Given the description of an element on the screen output the (x, y) to click on. 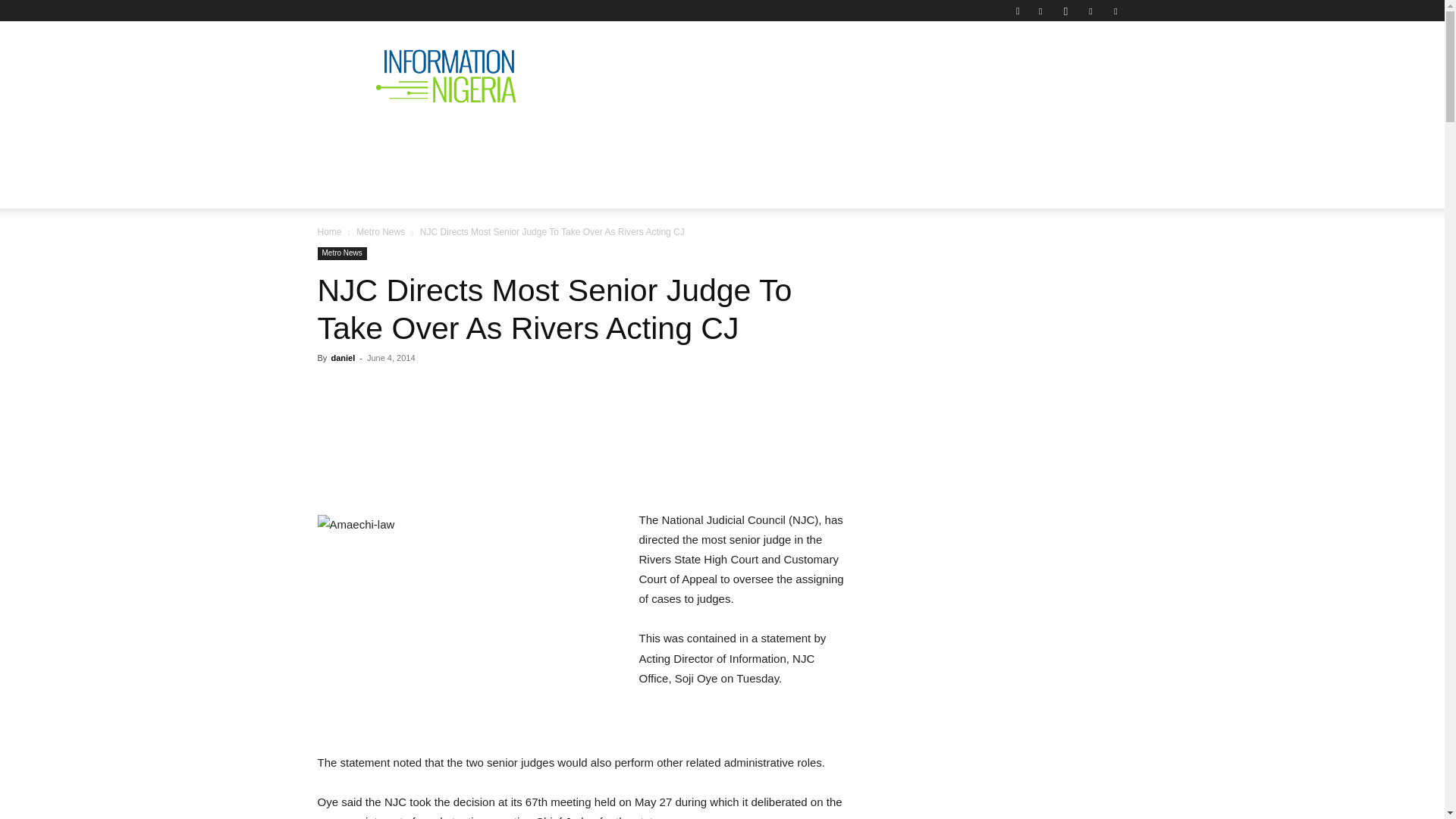
BBC PIDGIN (779, 139)
SPECIAL REPORTS (660, 139)
View all posts in Metro News (380, 231)
METRO NEWS (884, 139)
Facebook (1040, 10)
POLITICS (551, 139)
Youtube (1114, 10)
Instagram (1065, 10)
Nigeria News, Nigerian Newspaper (446, 76)
HOME (347, 139)
Search (1085, 64)
Twitter (1090, 10)
SPORTS (974, 139)
NATIONAL NEWS (444, 139)
